Given the description of an element on the screen output the (x, y) to click on. 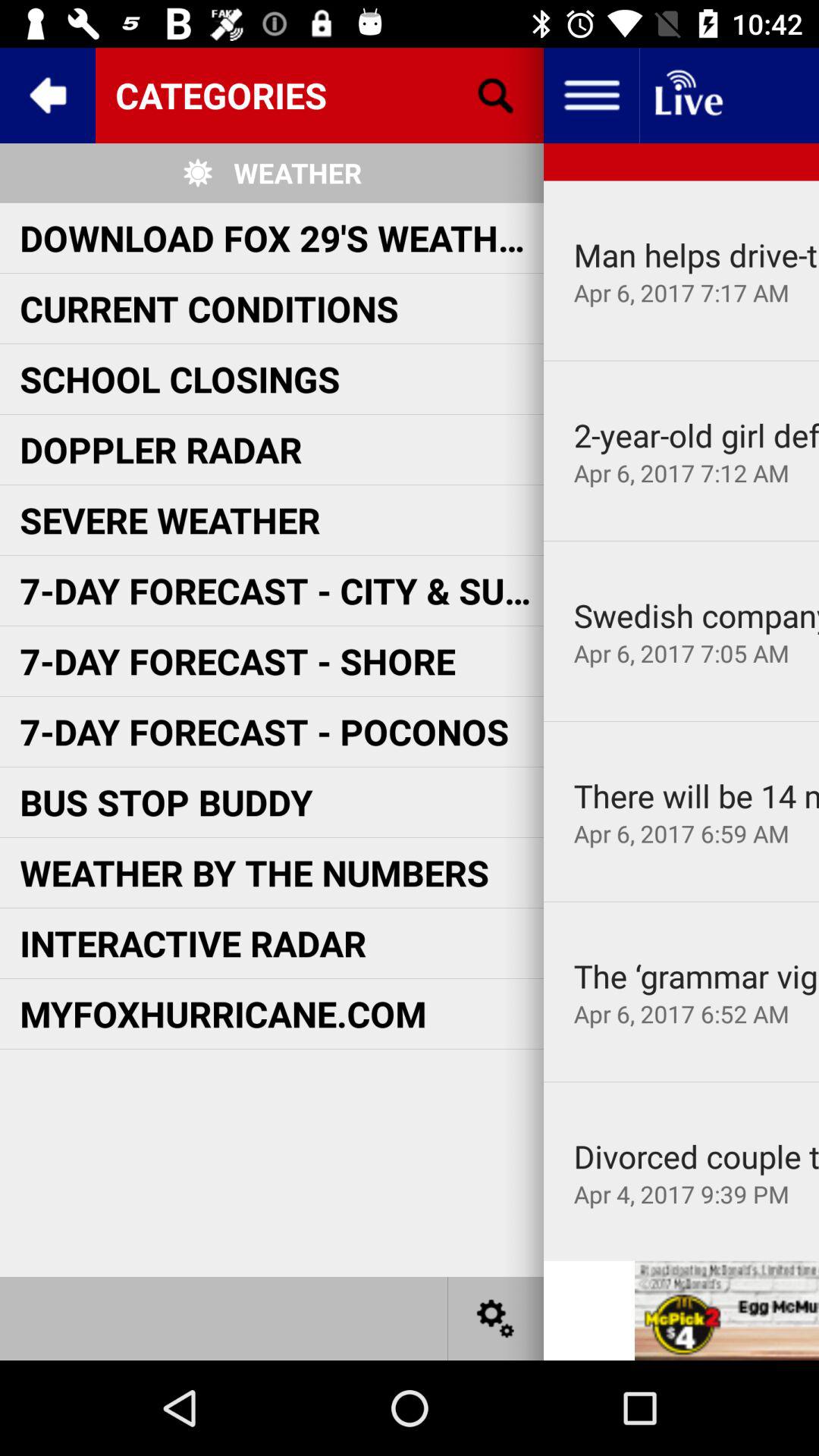
go to previous screen (47, 95)
